Given the description of an element on the screen output the (x, y) to click on. 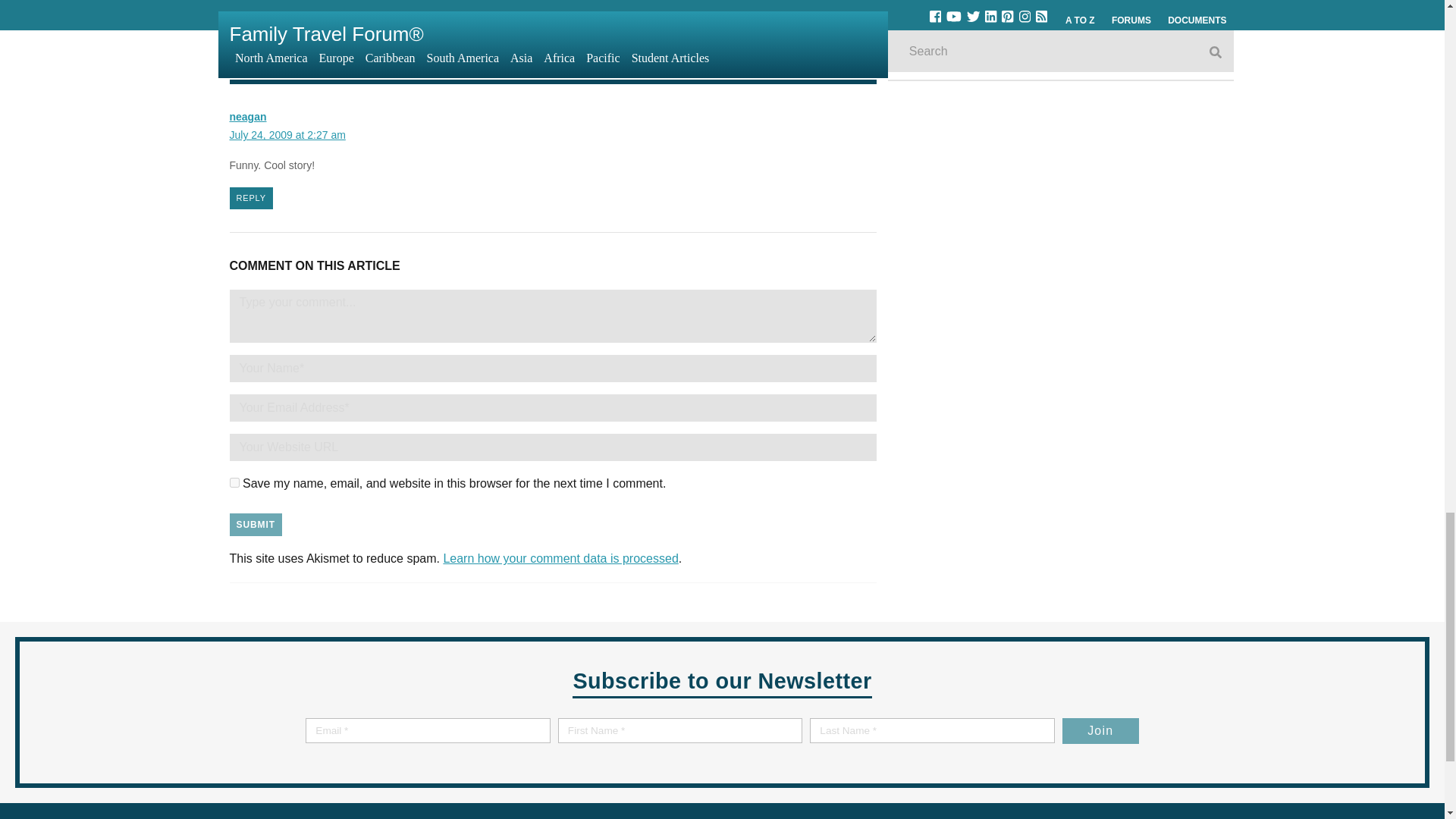
yes (233, 482)
Submit (254, 524)
Join (1100, 730)
Submit (254, 524)
America's Most Popular Family Vacations (427, 727)
July 24, 2009 at 2:27 am (286, 134)
neagan (247, 116)
My Family Travels (279, 699)
Learn how your comment data is processed (560, 558)
REPLY (250, 198)
